Given the description of an element on the screen output the (x, y) to click on. 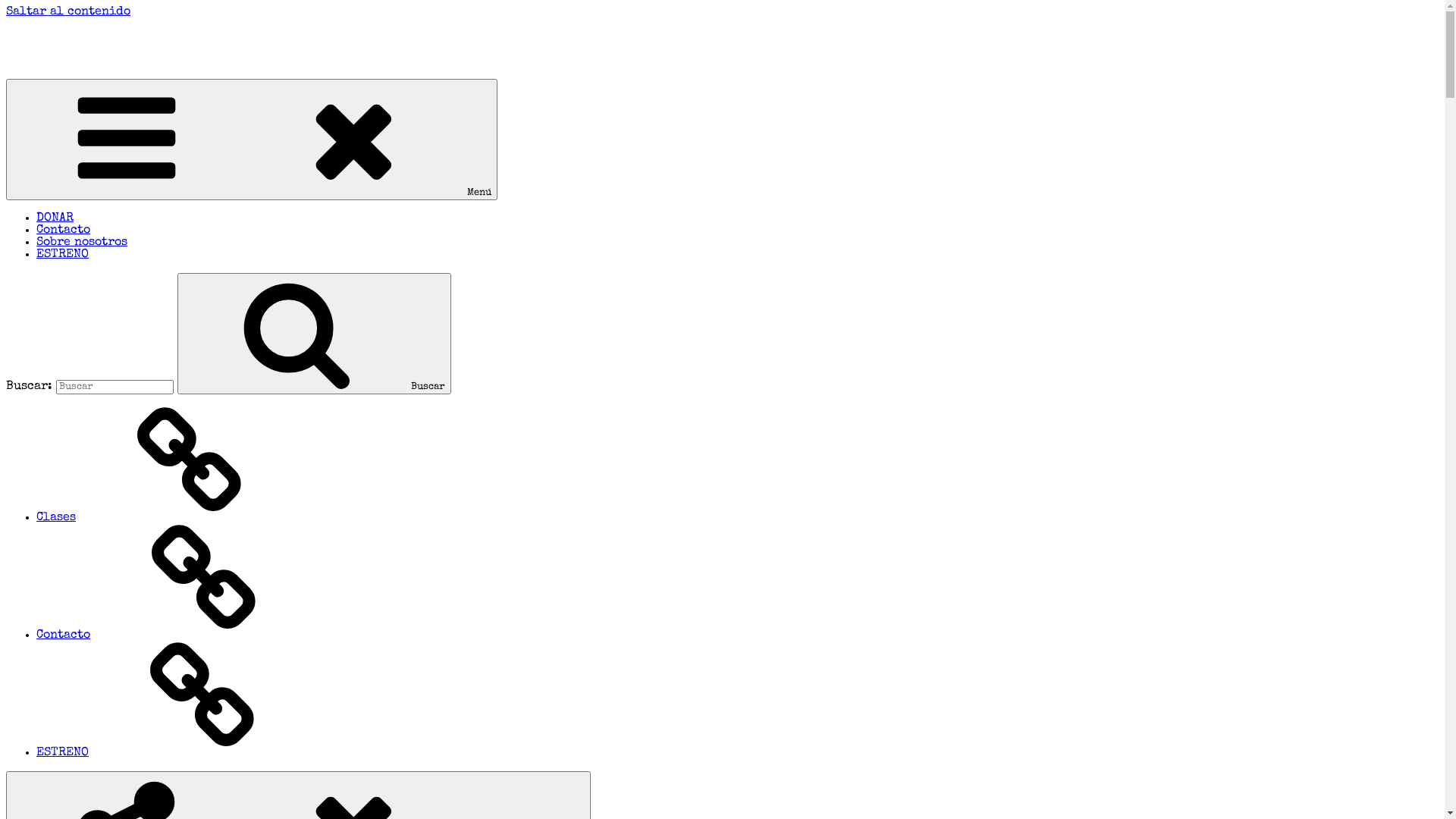
ESTRENO Element type: text (62, 254)
Sobre nosotros Element type: text (81, 242)
1982 LA GESTA Element type: text (49, 36)
DONAR Element type: text (54, 218)
Contacto Element type: text (63, 230)
Saltar al contenido Element type: text (68, 12)
Contacto Element type: text (176, 635)
Clases Element type: text (169, 517)
Buscar Element type: text (314, 333)
ESTRENO Element type: text (176, 752)
